Given the description of an element on the screen output the (x, y) to click on. 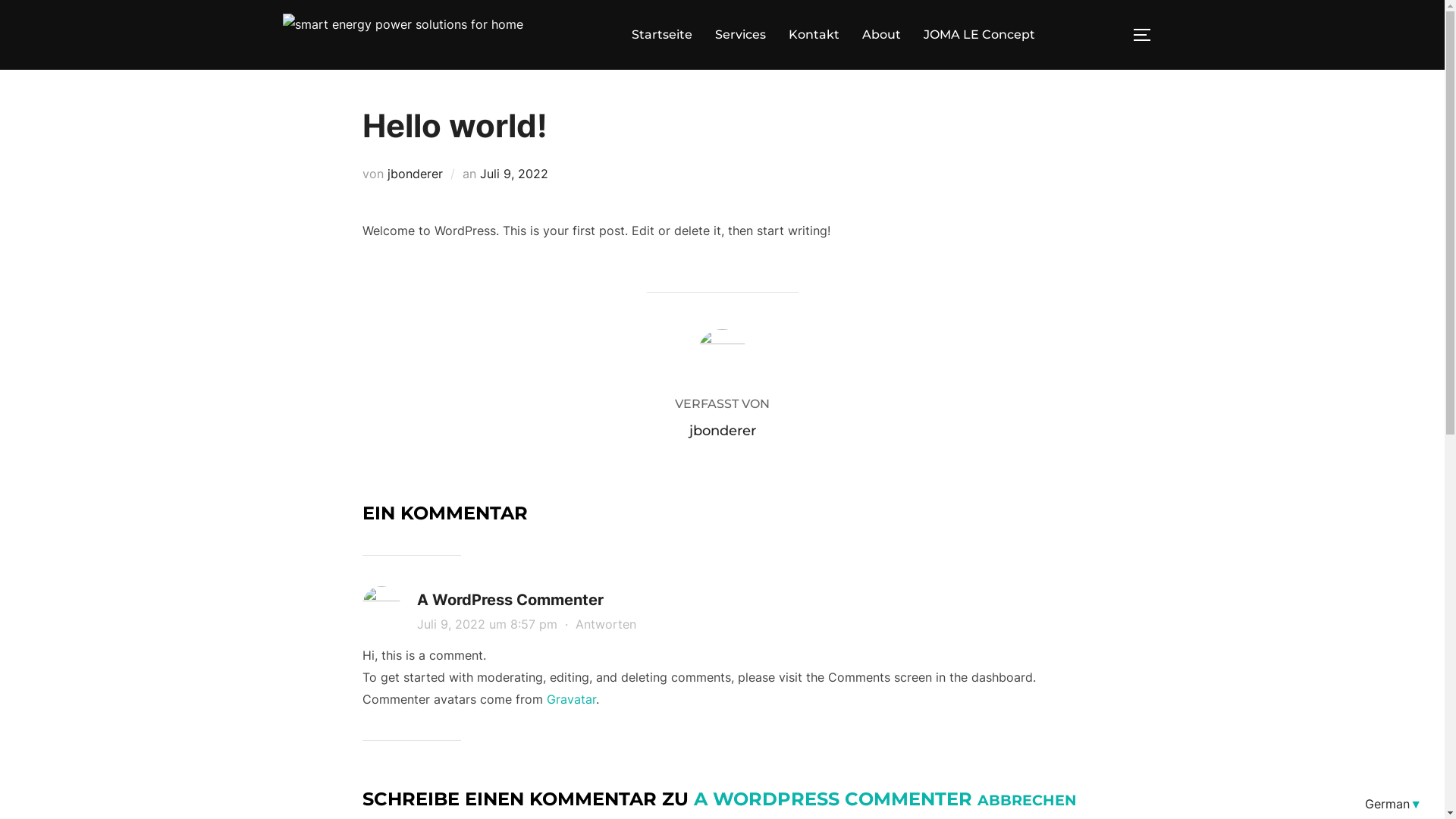
jbonderer Element type: text (414, 173)
Startseite Element type: text (660, 34)
JOMA LE Concept Element type: text (979, 34)
Antworten Element type: text (604, 623)
Gravatar Element type: text (570, 698)
About Element type: text (880, 34)
SEITENLEISTE & NAVIGATION UMSCHALTEN Element type: text (1146, 34)
Kontakt Element type: text (813, 34)
Juli 9, 2022 um 8:57 pm Element type: text (489, 623)
ABBRECHEN Element type: text (1026, 799)
Services Element type: text (739, 34)
Juli 9, 2022 Element type: text (513, 173)
A WORDPRESS COMMENTER Element type: text (832, 798)
jbonderer Element type: text (721, 430)
A WordPress Commenter Element type: text (510, 599)
